Given the description of an element on the screen output the (x, y) to click on. 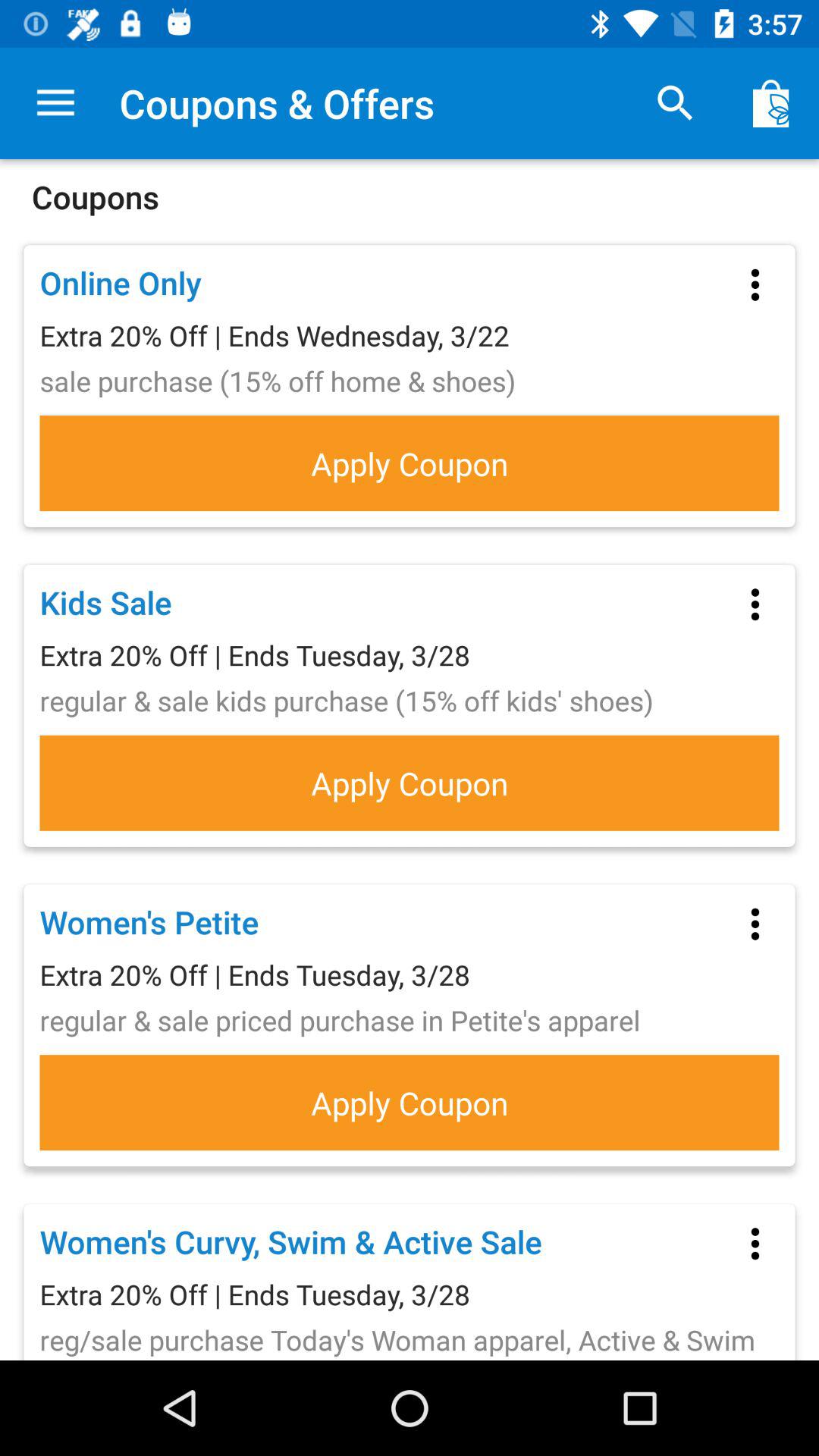
launch the app to the left of coupons & offers (55, 103)
